Given the description of an element on the screen output the (x, y) to click on. 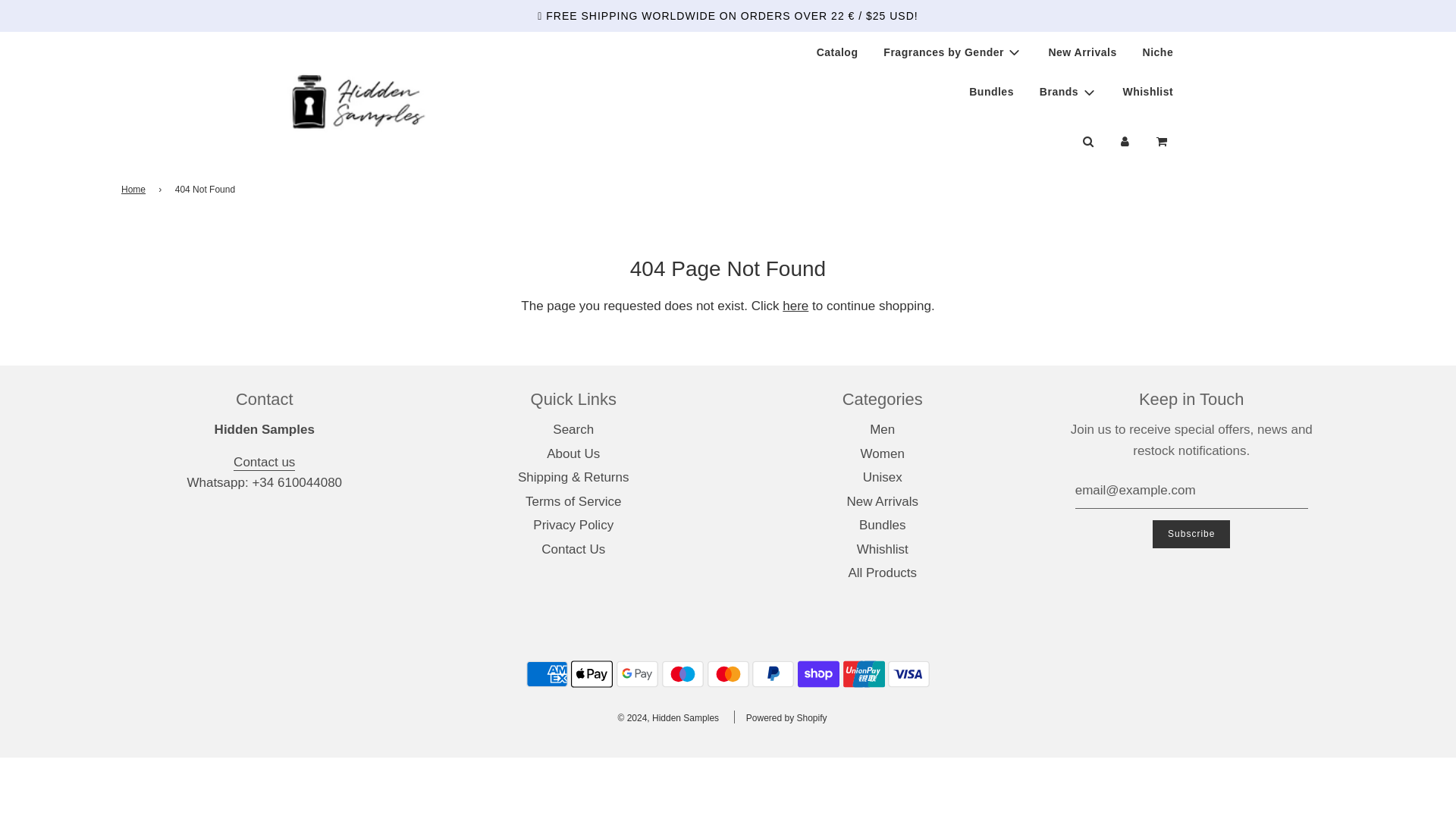
Log in (1124, 140)
Fragrances by Gender (952, 51)
Mastercard (727, 674)
Subscribe (1191, 533)
Maestro (682, 674)
Apple Pay (591, 674)
Catalog (837, 52)
Shop Pay (818, 674)
American Express (546, 674)
Google Pay (636, 674)
